Given the description of an element on the screen output the (x, y) to click on. 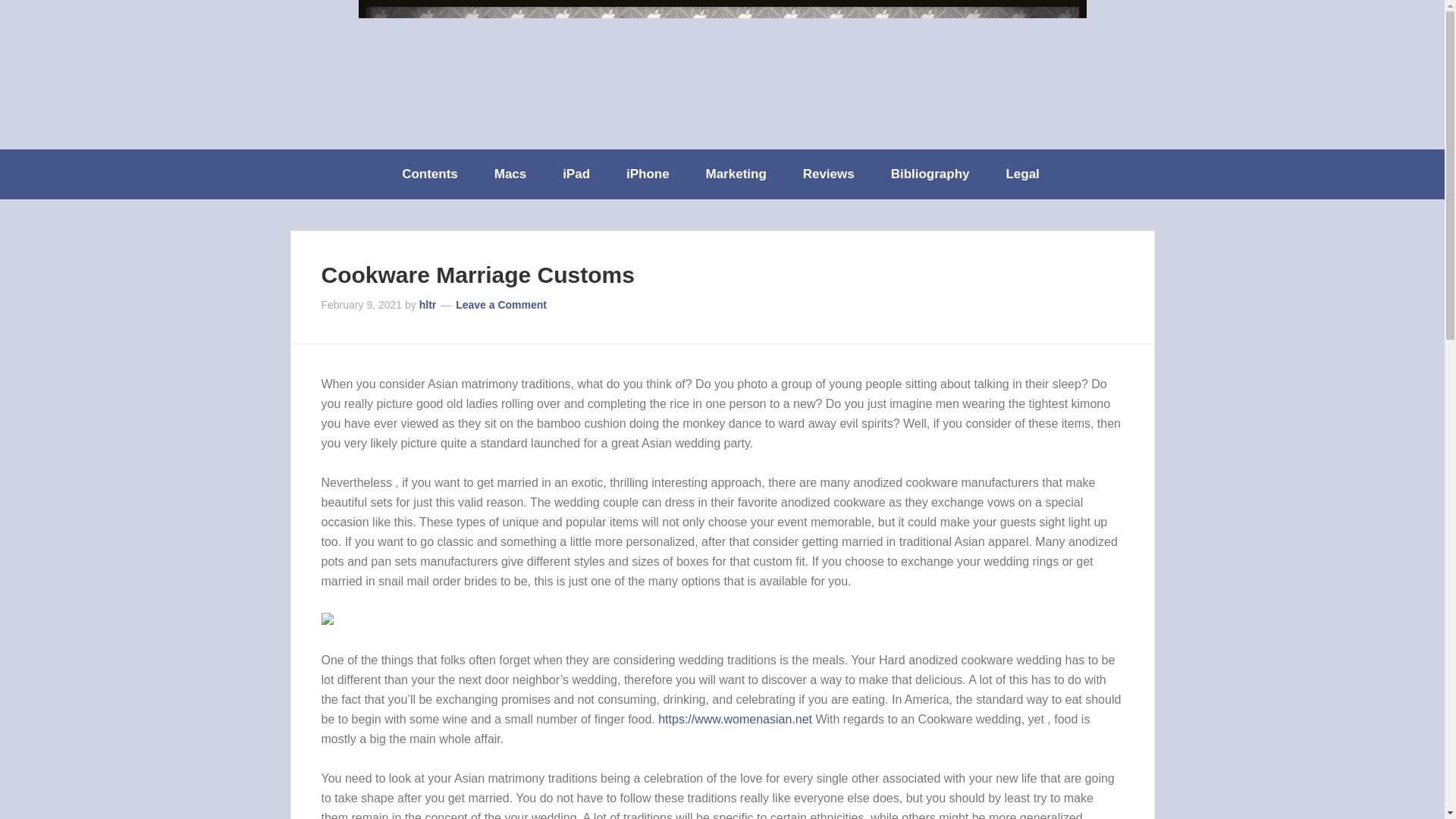
Legal (1023, 174)
Contents (431, 174)
iPad (577, 174)
Macs (511, 174)
hltr (427, 304)
Leave a Comment (501, 304)
Reviews (829, 174)
Marketing (737, 174)
AAPLinvestors (721, 73)
Bibliography (932, 174)
